Given the description of an element on the screen output the (x, y) to click on. 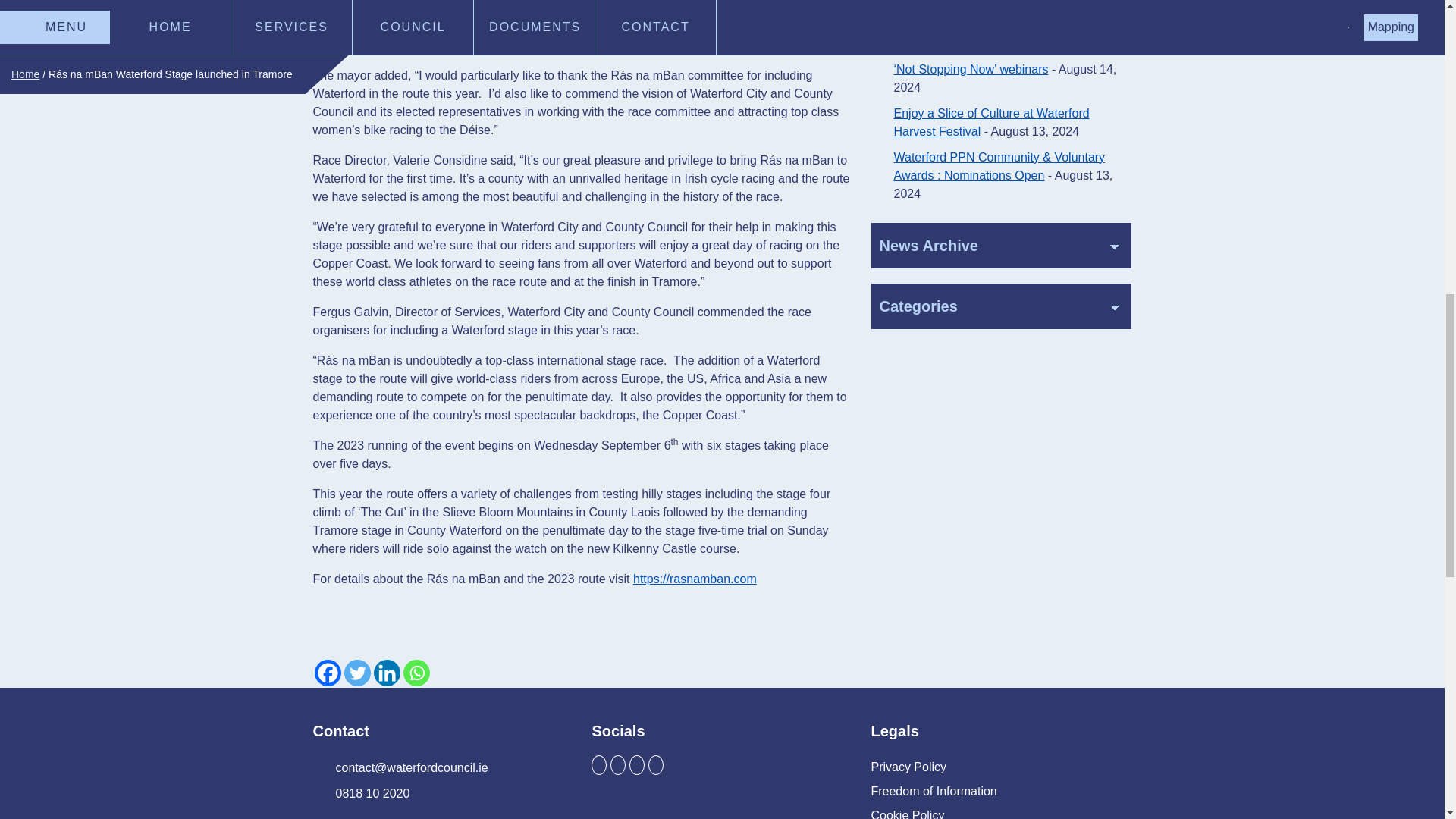
0818 10 2020 (361, 793)
Linkedin (385, 673)
Whatsapp (416, 673)
Privacy Policy (908, 767)
Enjoy a Slice of Culture at Waterford Harvest Festival (991, 122)
Cookie Policy (906, 811)
Facebook (327, 673)
Freedom of Information (932, 791)
Twitter (357, 673)
